Given the description of an element on the screen output the (x, y) to click on. 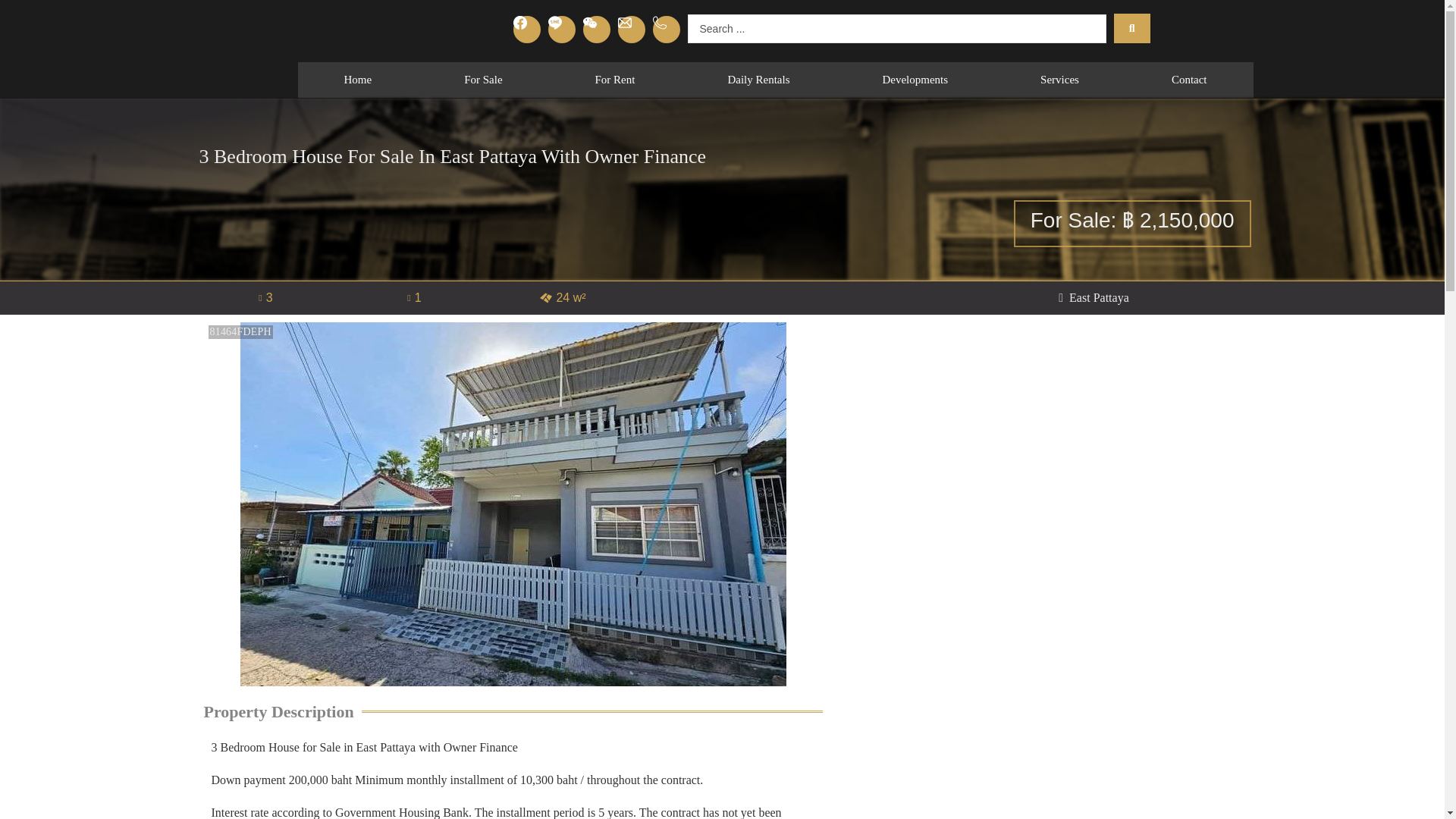
Home (357, 79)
Daily Rentals (758, 79)
Services (1059, 79)
Contact (1189, 79)
For Rent (614, 79)
Developments (914, 79)
For Sale (482, 79)
